Given the description of an element on the screen output the (x, y) to click on. 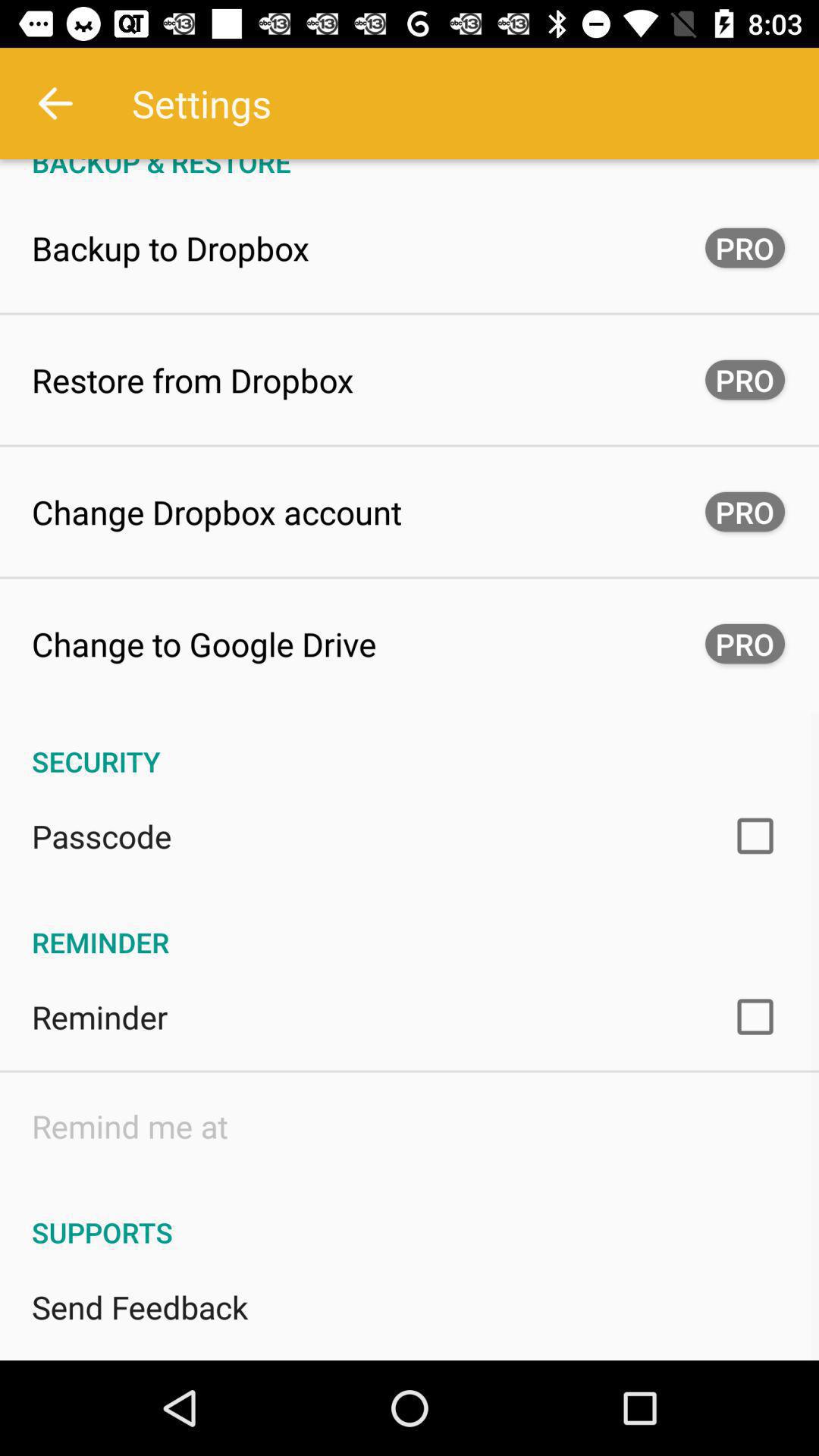
turn off the app below the security (101, 835)
